Given the description of an element on the screen output the (x, y) to click on. 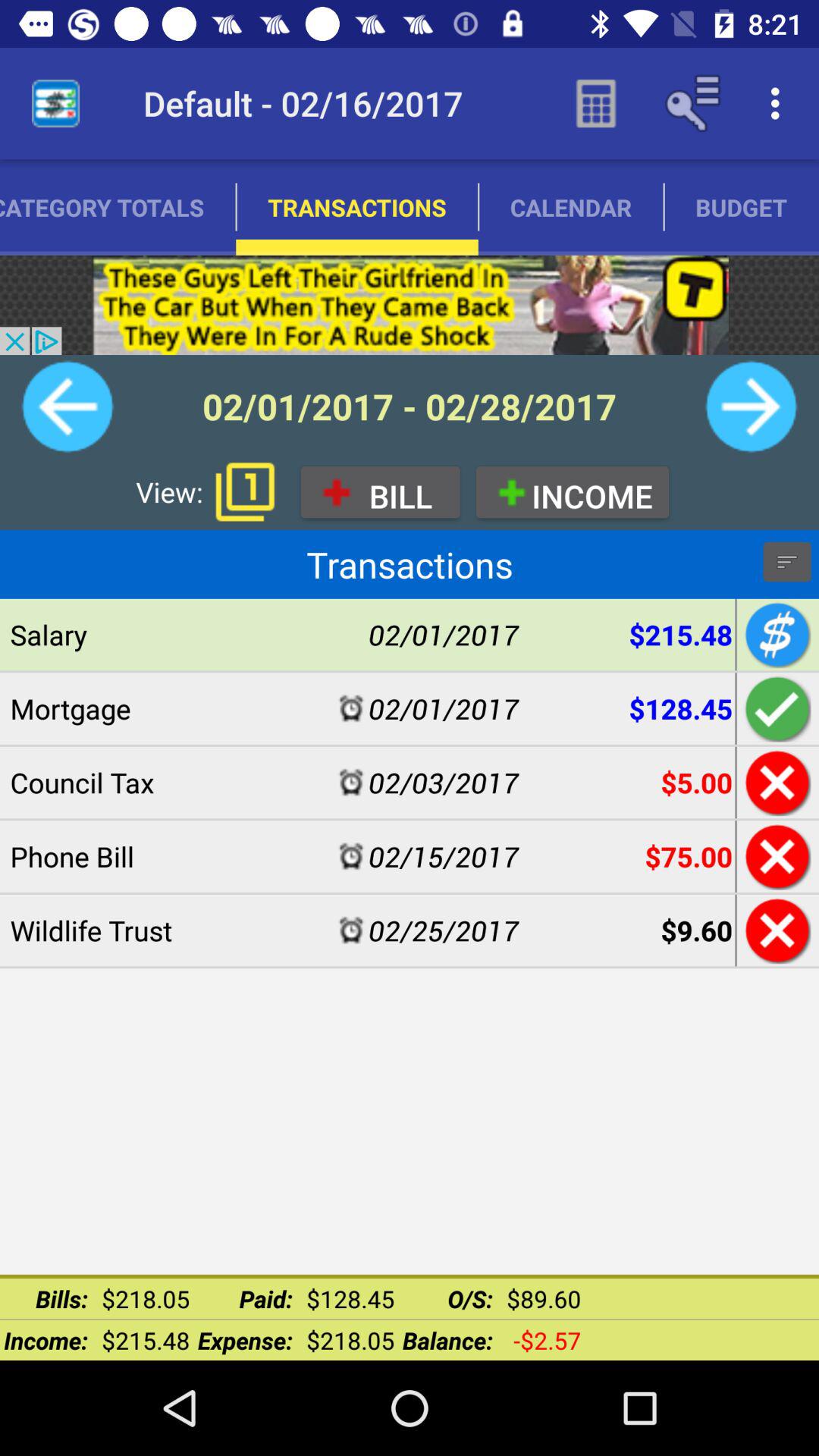
go forward (751, 406)
